Given the description of an element on the screen output the (x, y) to click on. 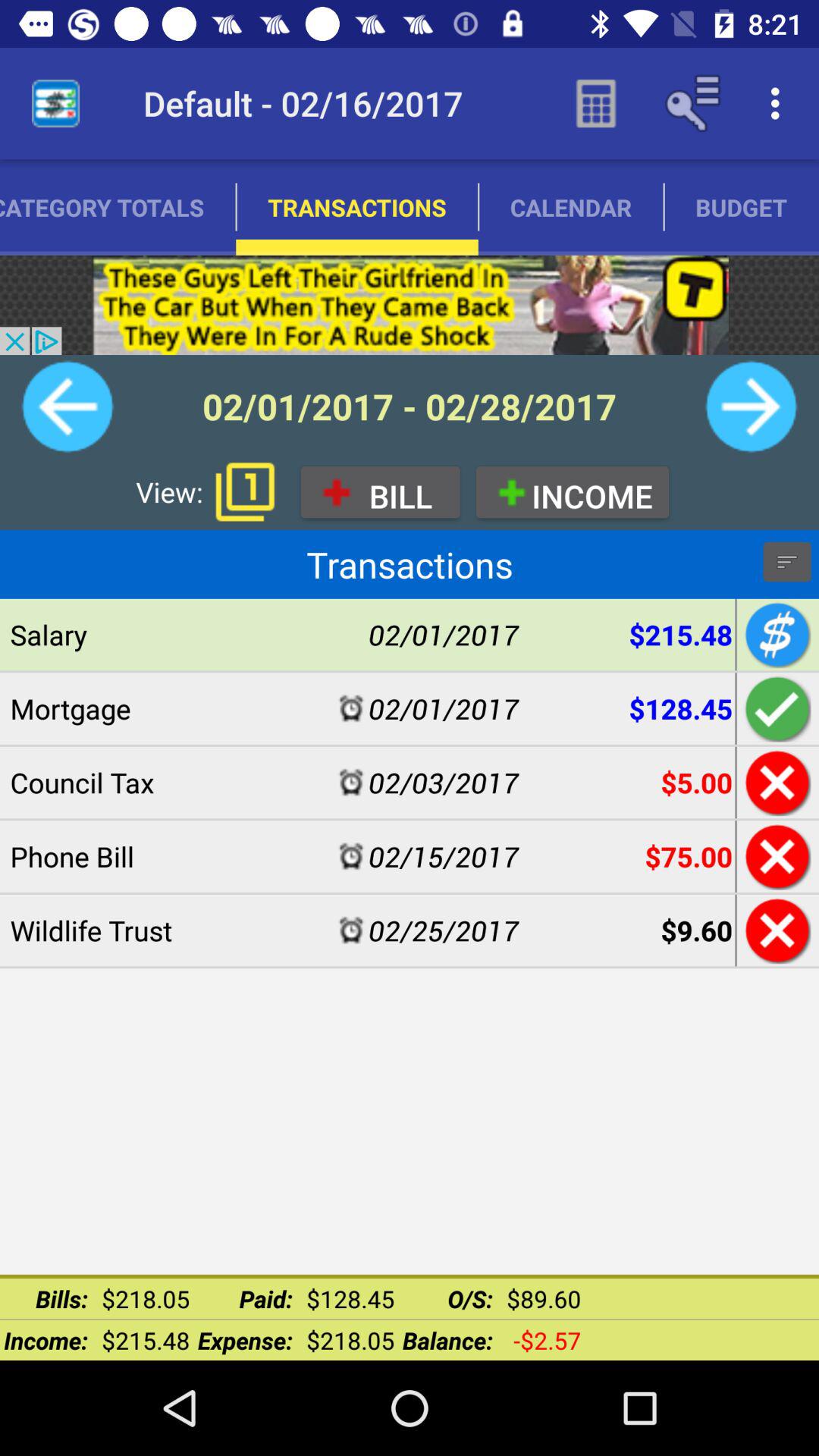
go forward (751, 406)
